Given the description of an element on the screen output the (x, y) to click on. 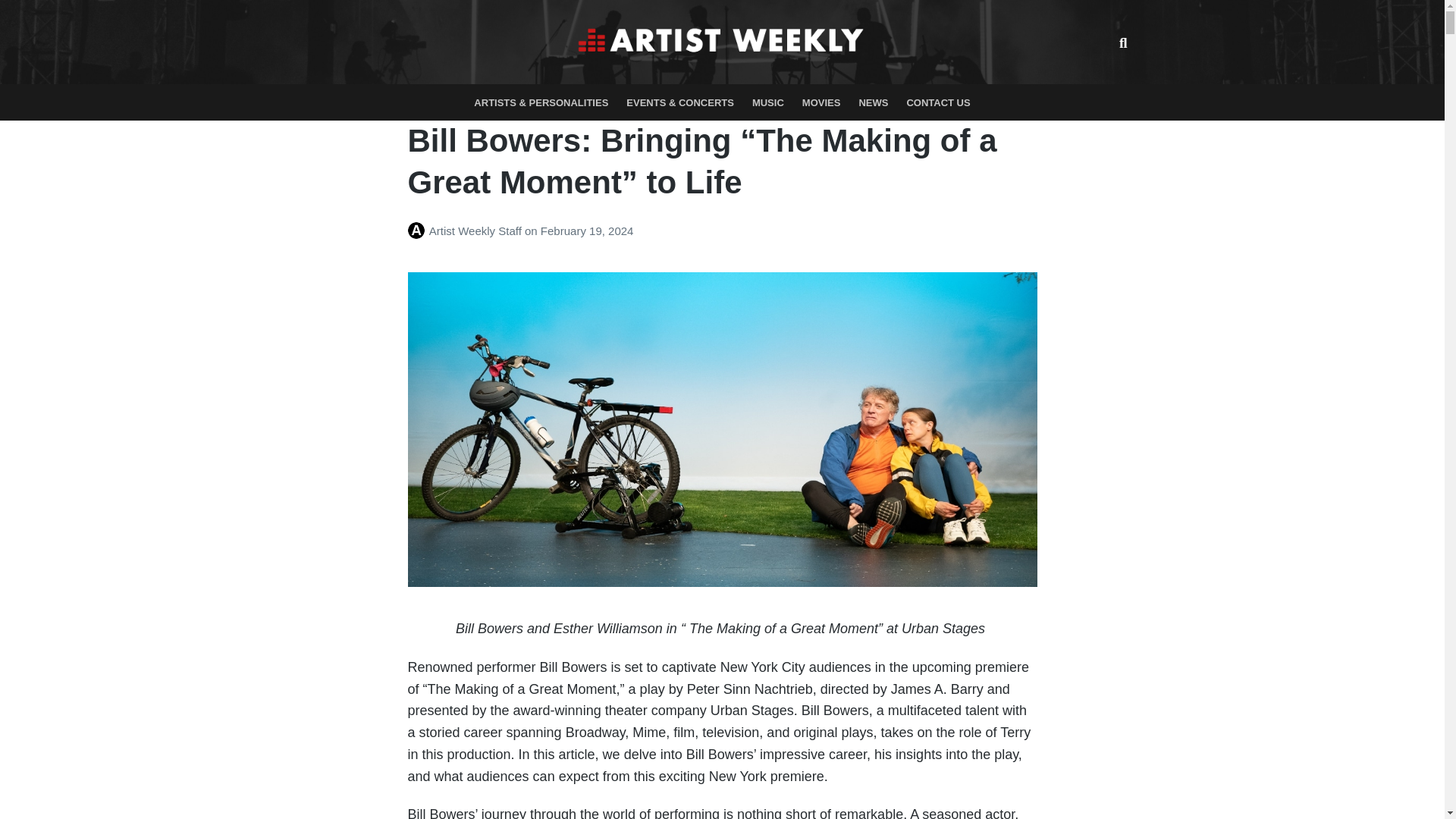
NEWS (872, 102)
Search (1116, 41)
CONTACT US (937, 102)
MUSIC (767, 102)
MOVIES (821, 102)
Posts by Artist Weekly Staff (418, 230)
